Given the description of an element on the screen output the (x, y) to click on. 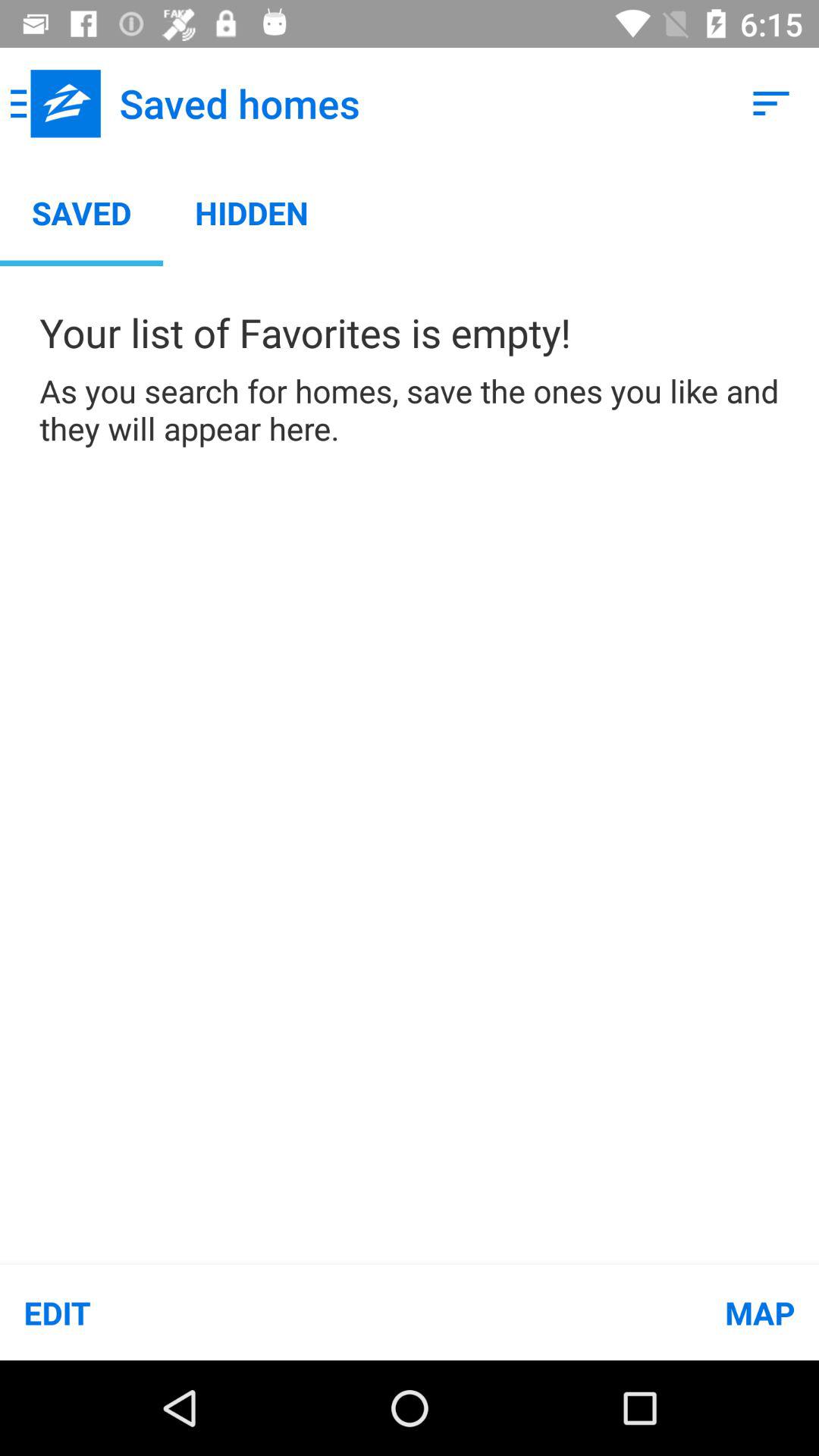
tap icon next to saved homes item (771, 103)
